Given the description of an element on the screen output the (x, y) to click on. 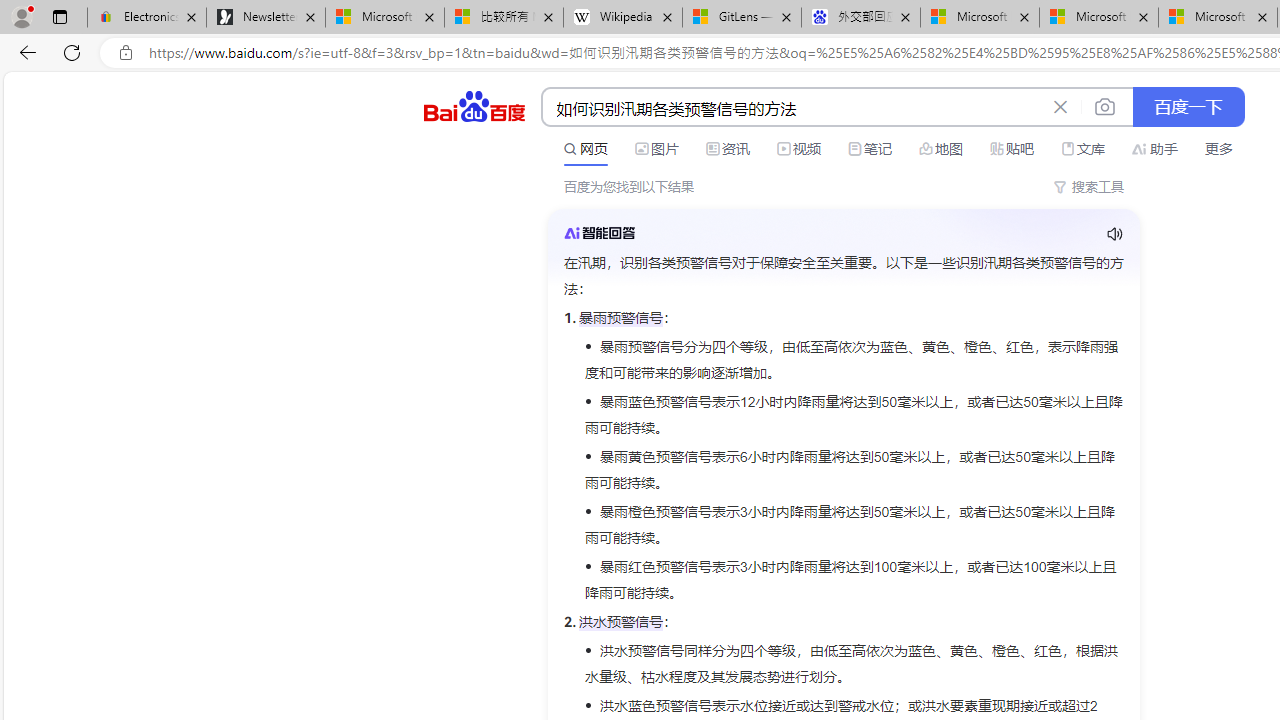
Class: sc-audio-svg _pause-icon_13ucw_87 (1114, 233)
AutomationID: kw (793, 107)
